Given the description of an element on the screen output the (x, y) to click on. 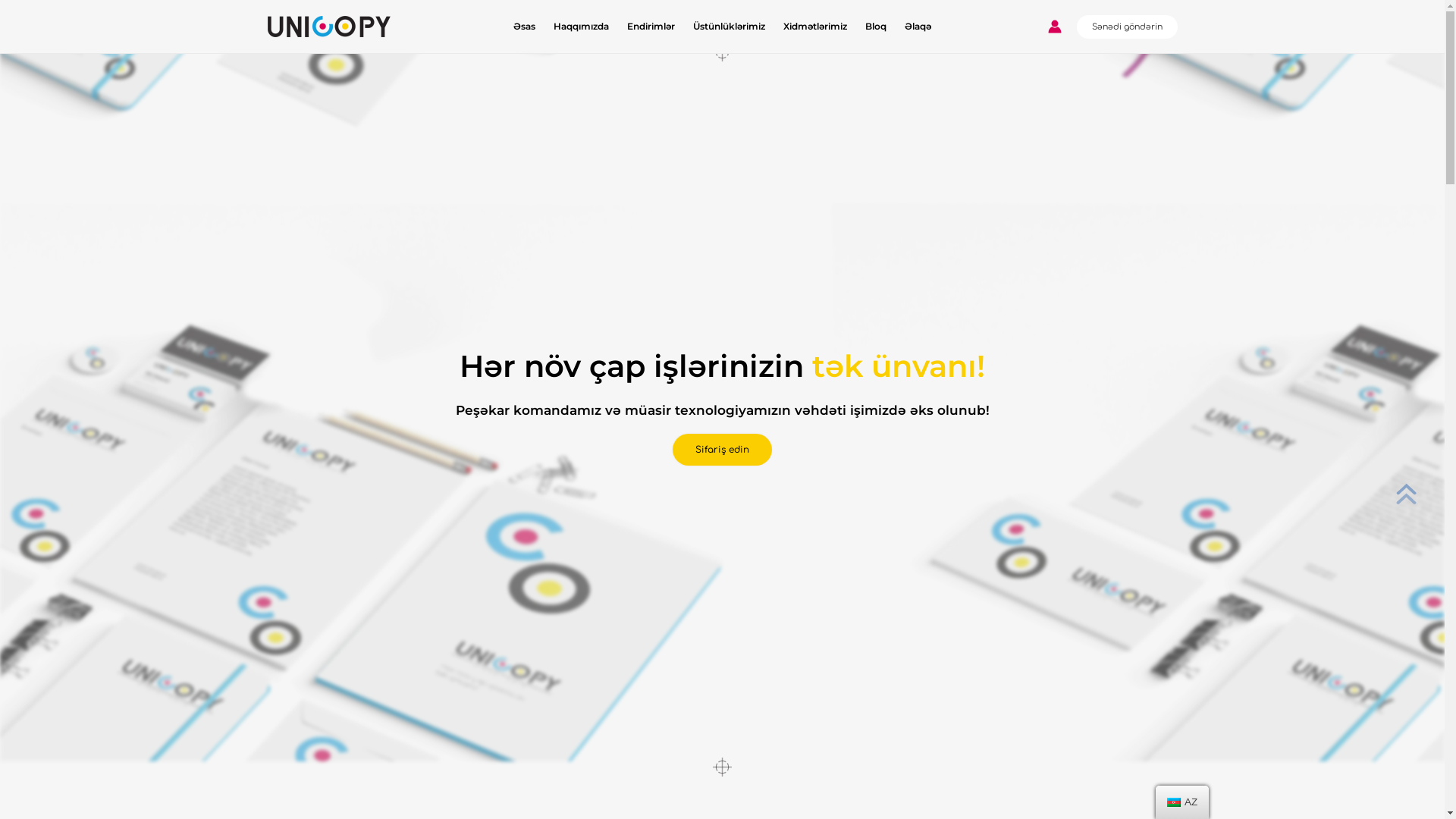
Bloq Element type: text (875, 26)
